Given the description of an element on the screen output the (x, y) to click on. 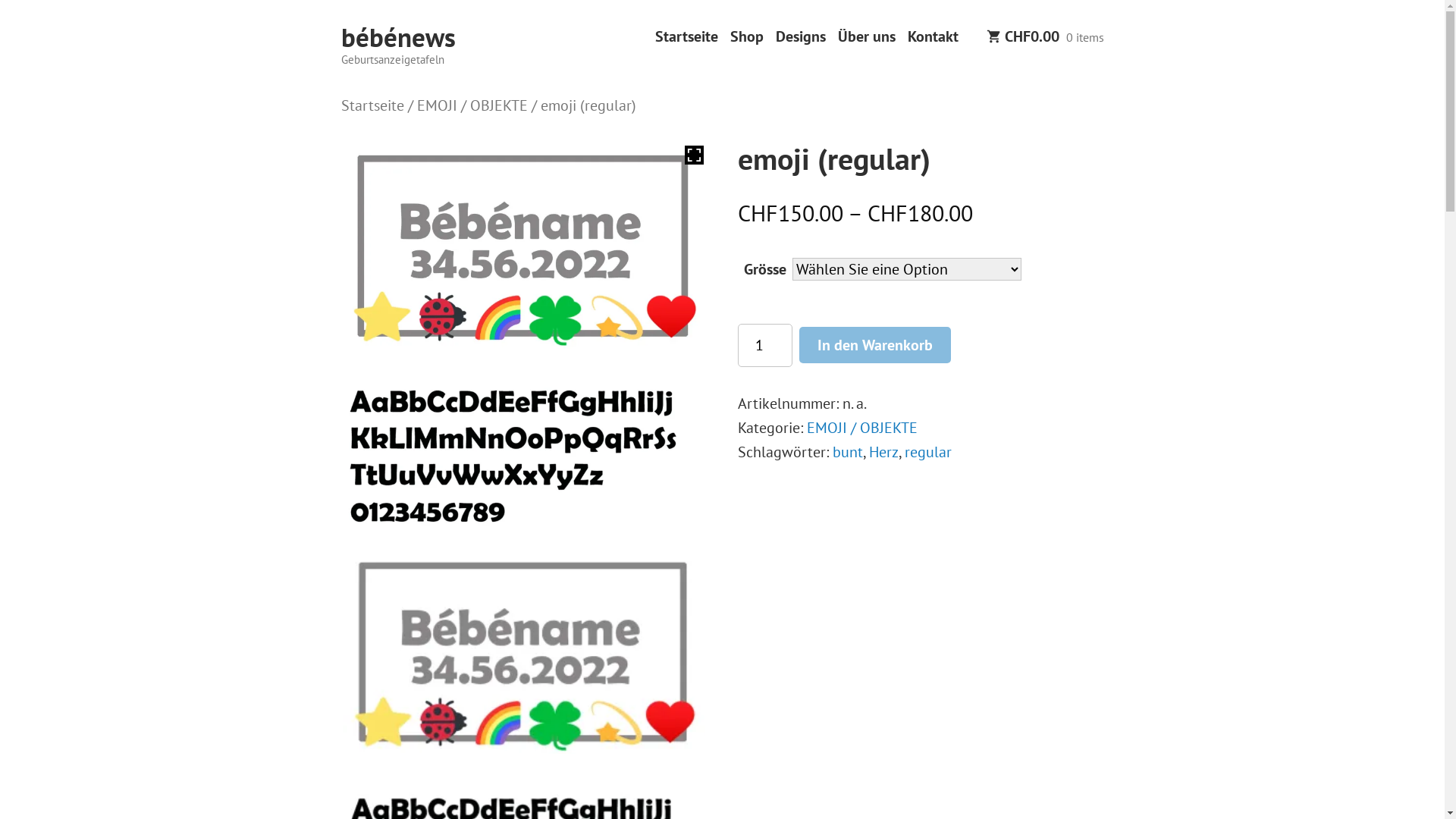
Herz Element type: text (883, 451)
Alphabet und Zahlen_emoji_800x800 Element type: hover (524, 448)
Kontakt Element type: text (931, 36)
Startseite Element type: text (686, 36)
CHF0.00 0 items Element type: text (1044, 37)
regular Element type: text (927, 451)
emoji (regular)_800x800 Element type: hover (524, 651)
Designs Element type: text (800, 36)
EMOJI / OBJEKTE Element type: text (861, 427)
In den Warenkorb Element type: text (874, 344)
emoji (regular)_800x800 Element type: hover (524, 244)
Shop Element type: text (745, 36)
Startseite Element type: text (372, 105)
EMOJI / OBJEKTE Element type: text (472, 105)
bunt Element type: text (847, 451)
